Given the description of an element on the screen output the (x, y) to click on. 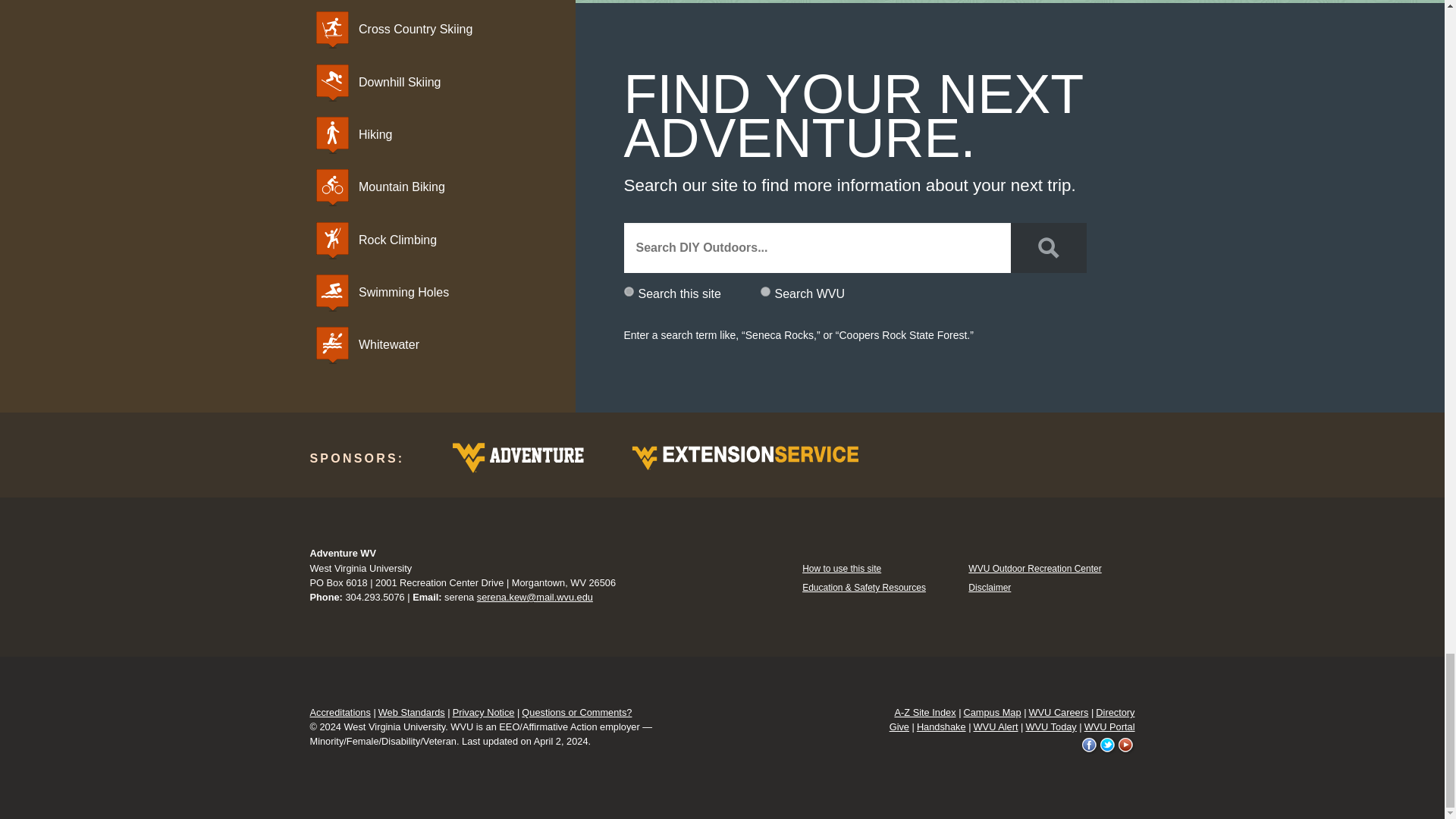
wvu.edu (765, 291)
diyoutdoors.wvu.edu (628, 291)
diyoutdoors.wvu.edu (628, 291)
Search (1048, 247)
Search (1048, 247)
wvu.edu (765, 291)
